Given the description of an element on the screen output the (x, y) to click on. 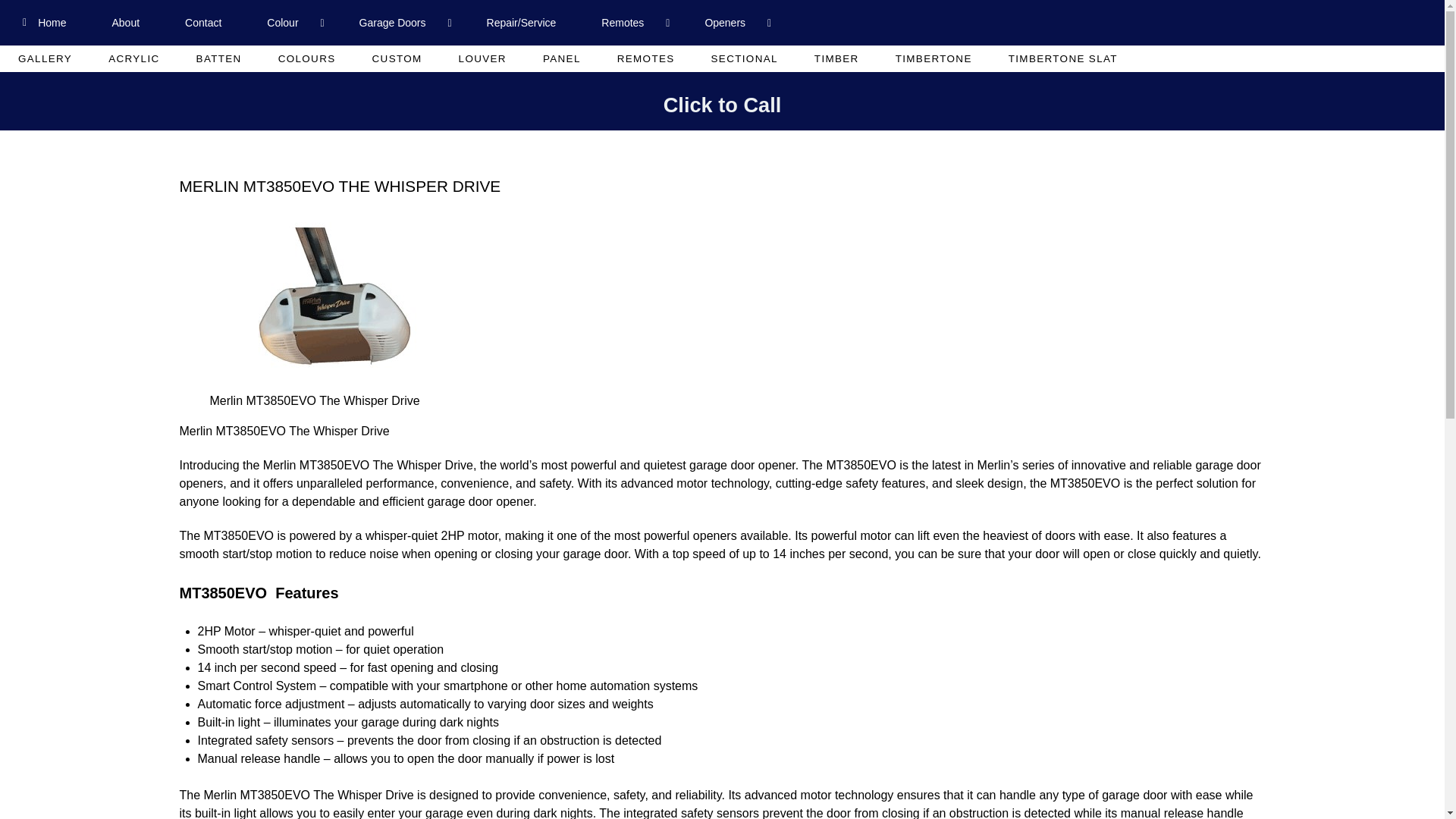
ACRYLIC (133, 58)
REMOTES (645, 58)
TIMBERTONE SLAT (1062, 58)
CUSTOM (397, 58)
Remotes (629, 22)
GALLERY (45, 58)
BATTEN (218, 58)
TIMBERTONE (933, 58)
SECTIONAL (744, 58)
Home (44, 22)
About (124, 22)
PANEL (561, 58)
Garage Doors (400, 22)
Colour (290, 22)
TIMBER (836, 58)
